Given the description of an element on the screen output the (x, y) to click on. 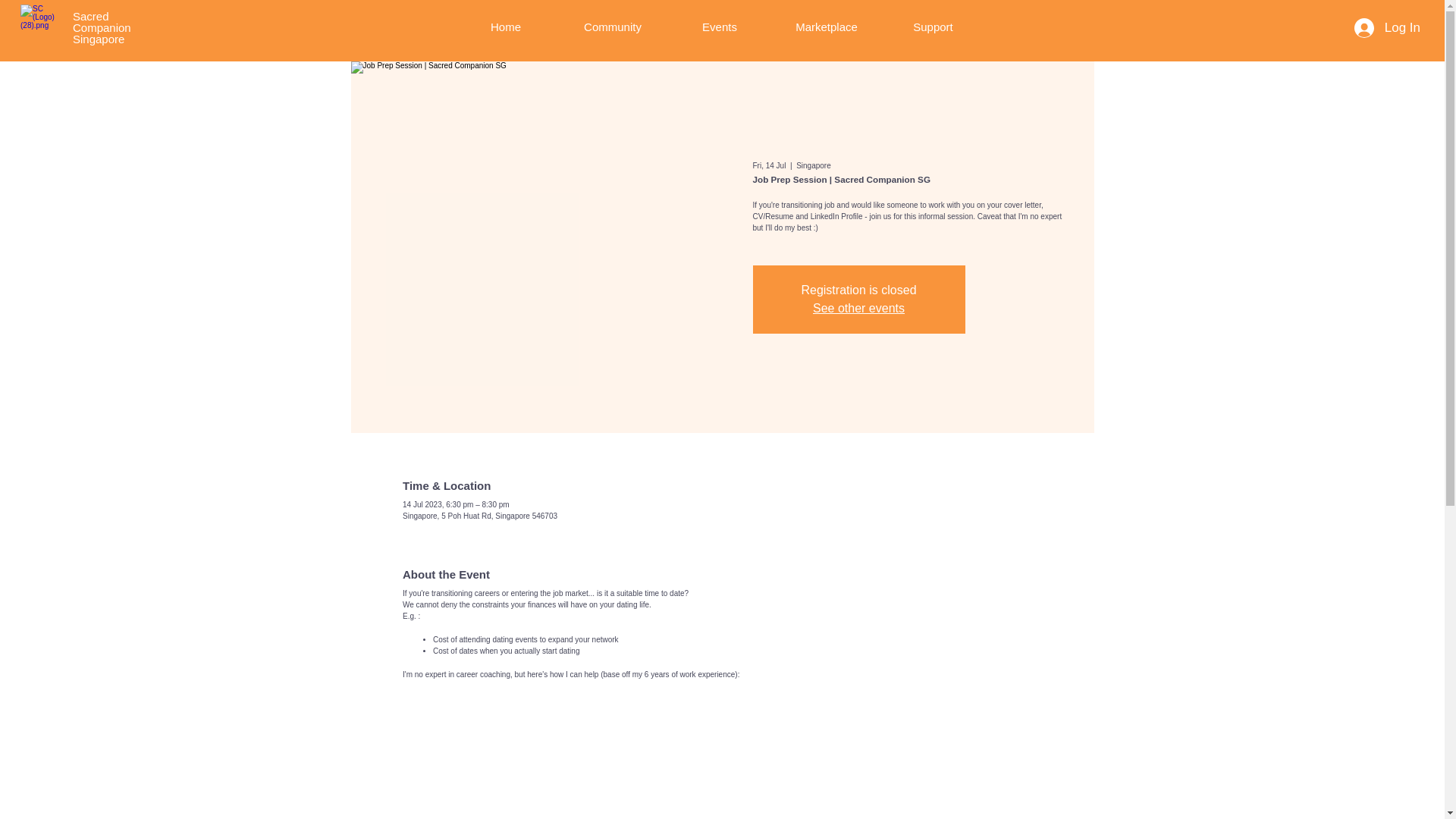
Log In (1387, 27)
Marketplace (826, 27)
Events (719, 27)
See other events (858, 308)
Support (101, 27)
Community (932, 27)
Home (612, 27)
